Given the description of an element on the screen output the (x, y) to click on. 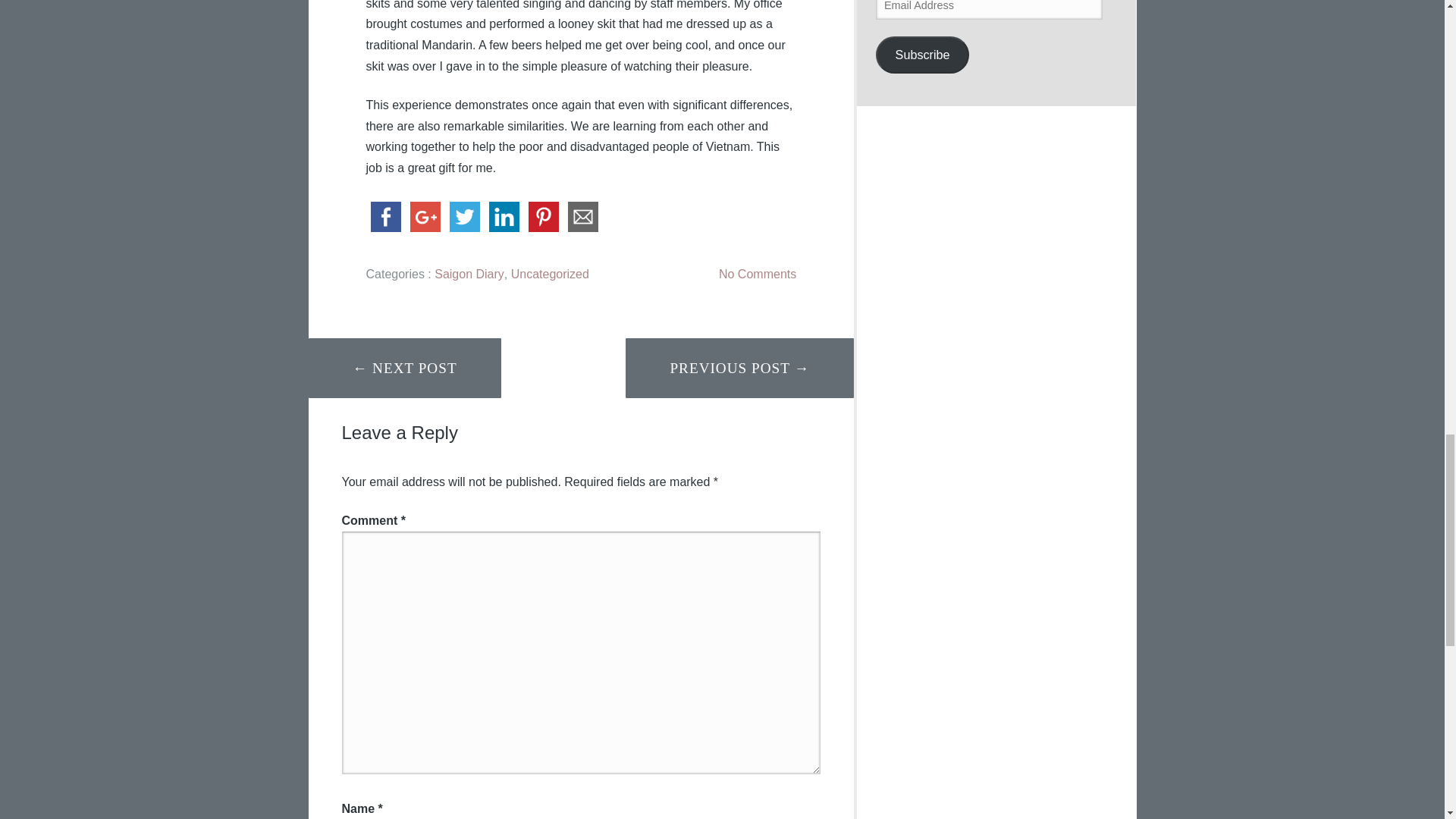
No Comments (757, 273)
Uncategorized (550, 273)
email (582, 216)
facebook (384, 216)
Saigon Diary (468, 273)
linkedin (502, 216)
google (424, 216)
twitter (463, 216)
pinterest (542, 216)
